Given the description of an element on the screen output the (x, y) to click on. 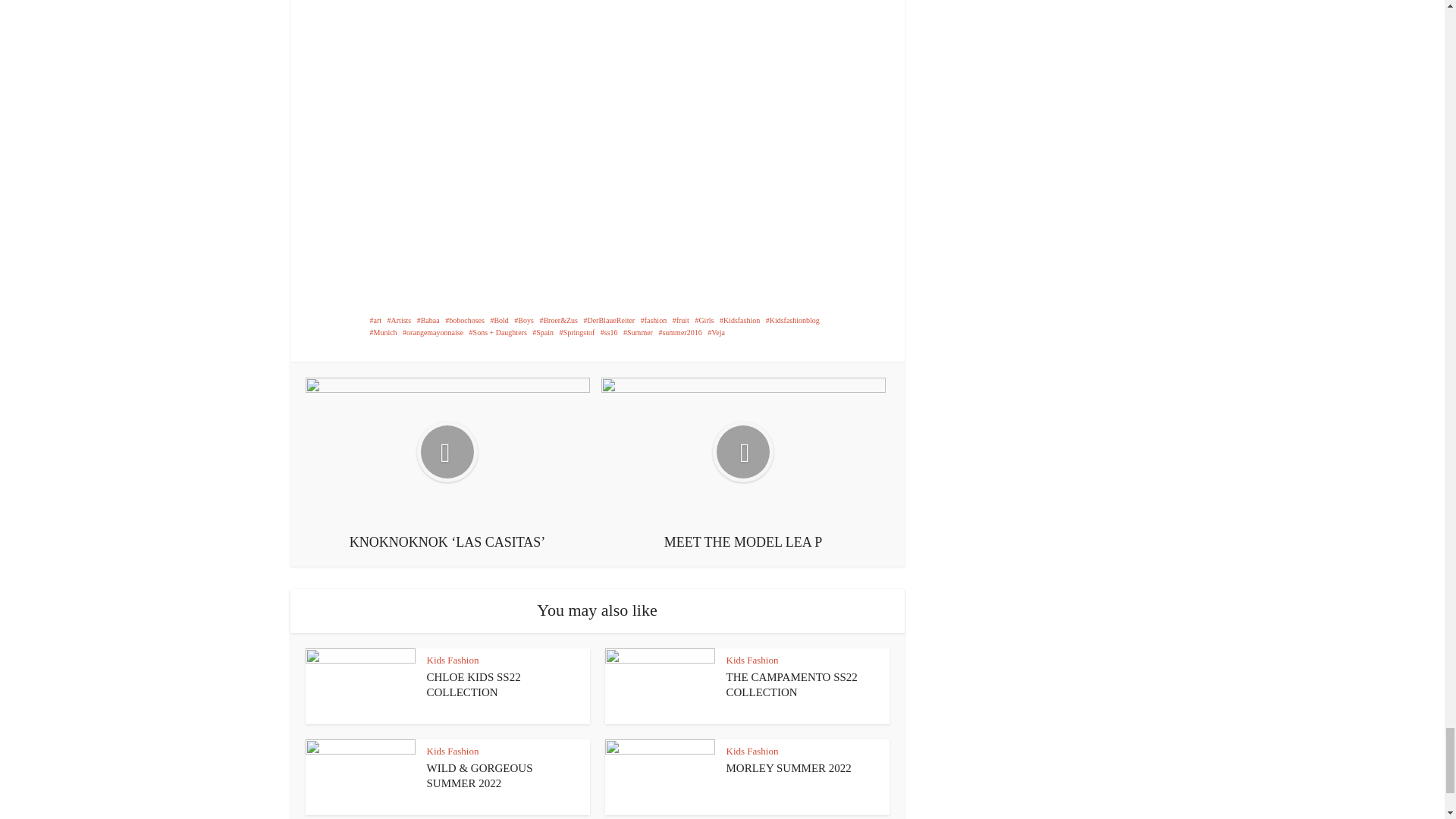
MORLEY SUMMER 2022 (788, 767)
art (375, 320)
THE CAMPAMENTO SS22 COLLECTION (791, 684)
CHLOE KIDS SS22 COLLECTION (472, 684)
